Given the description of an element on the screen output the (x, y) to click on. 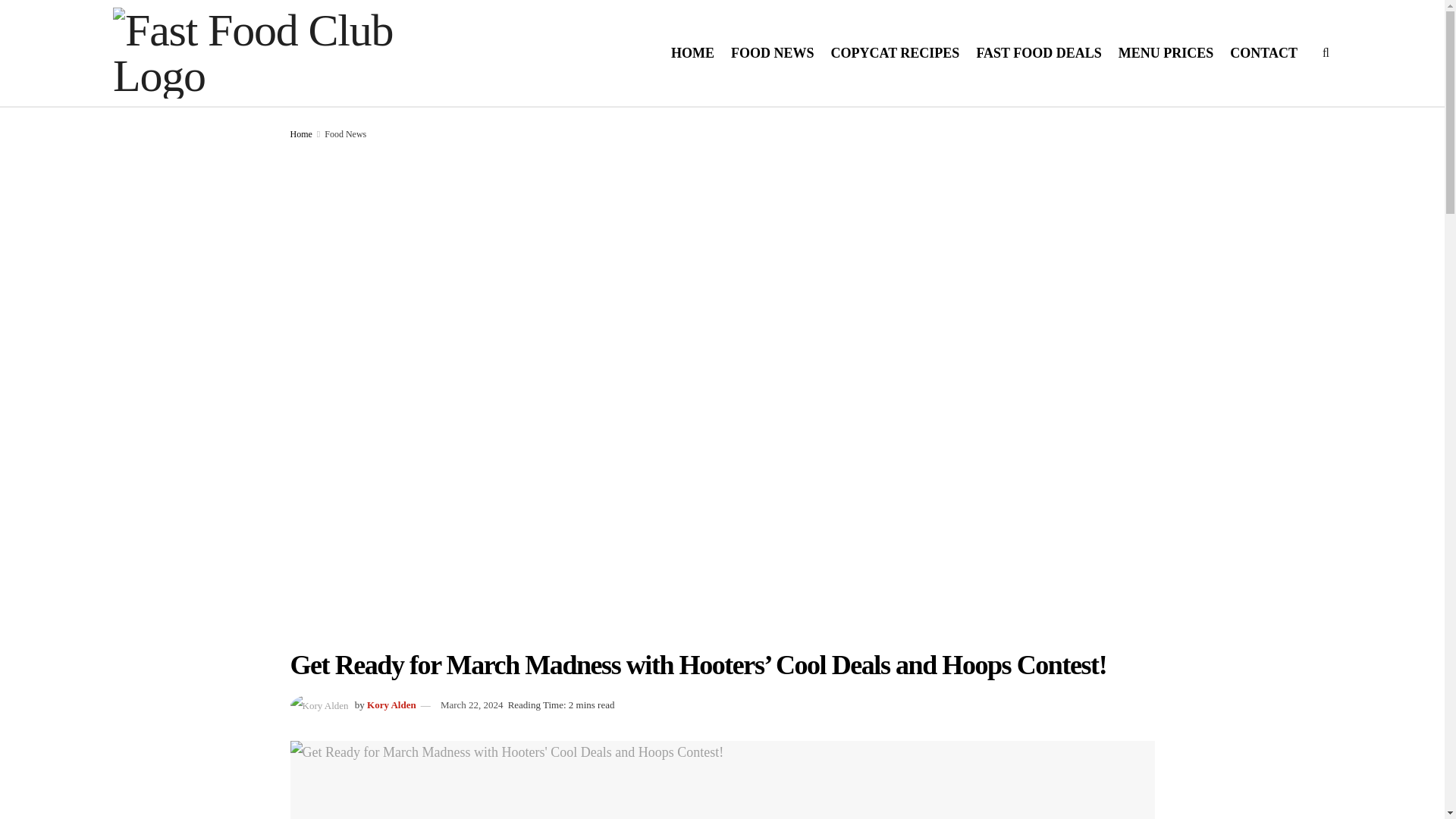
FOOD NEWS (771, 53)
COPYCAT RECIPES (895, 53)
Food News (345, 133)
MENU PRICES (1166, 53)
FAST FOOD DEALS (1037, 53)
Home (300, 133)
CONTACT (1263, 53)
HOME (692, 53)
March 22, 2024 (472, 704)
